Given the description of an element on the screen output the (x, y) to click on. 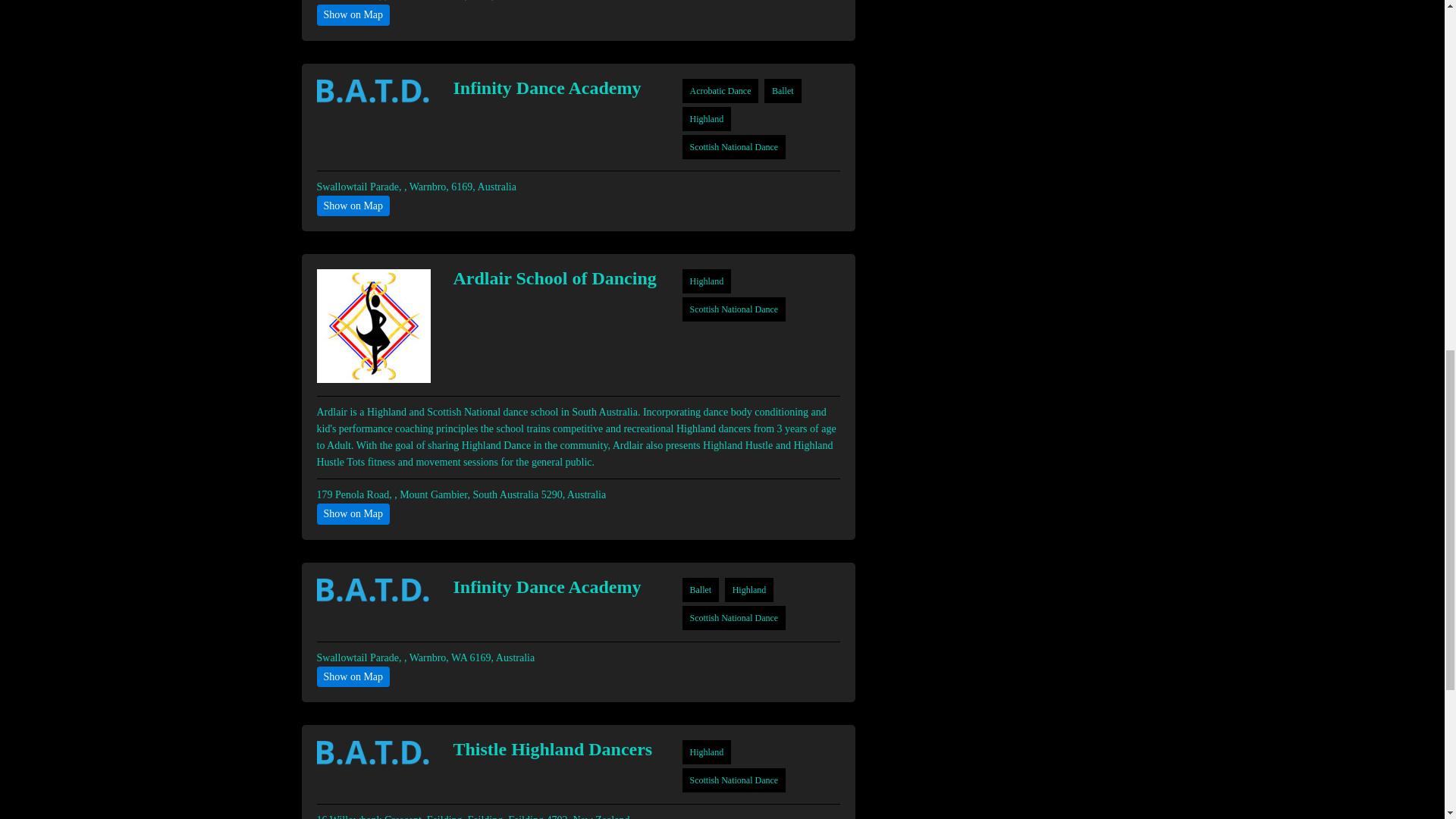
Ballet (782, 90)
Scottish National Dance (734, 308)
Highland (749, 588)
Ballet (700, 588)
Infinity Dance Academy (555, 87)
Scottish National Dance (734, 617)
Highland (706, 751)
Ardlair School of Dancing (555, 278)
Highland (706, 118)
Show on Map (353, 206)
Thistle Highland Dancers (555, 749)
Scottish National Dance (734, 779)
Scottish National Dance (734, 145)
Acrobatic Dance (720, 90)
Show on Map (353, 14)
